Given the description of an element on the screen output the (x, y) to click on. 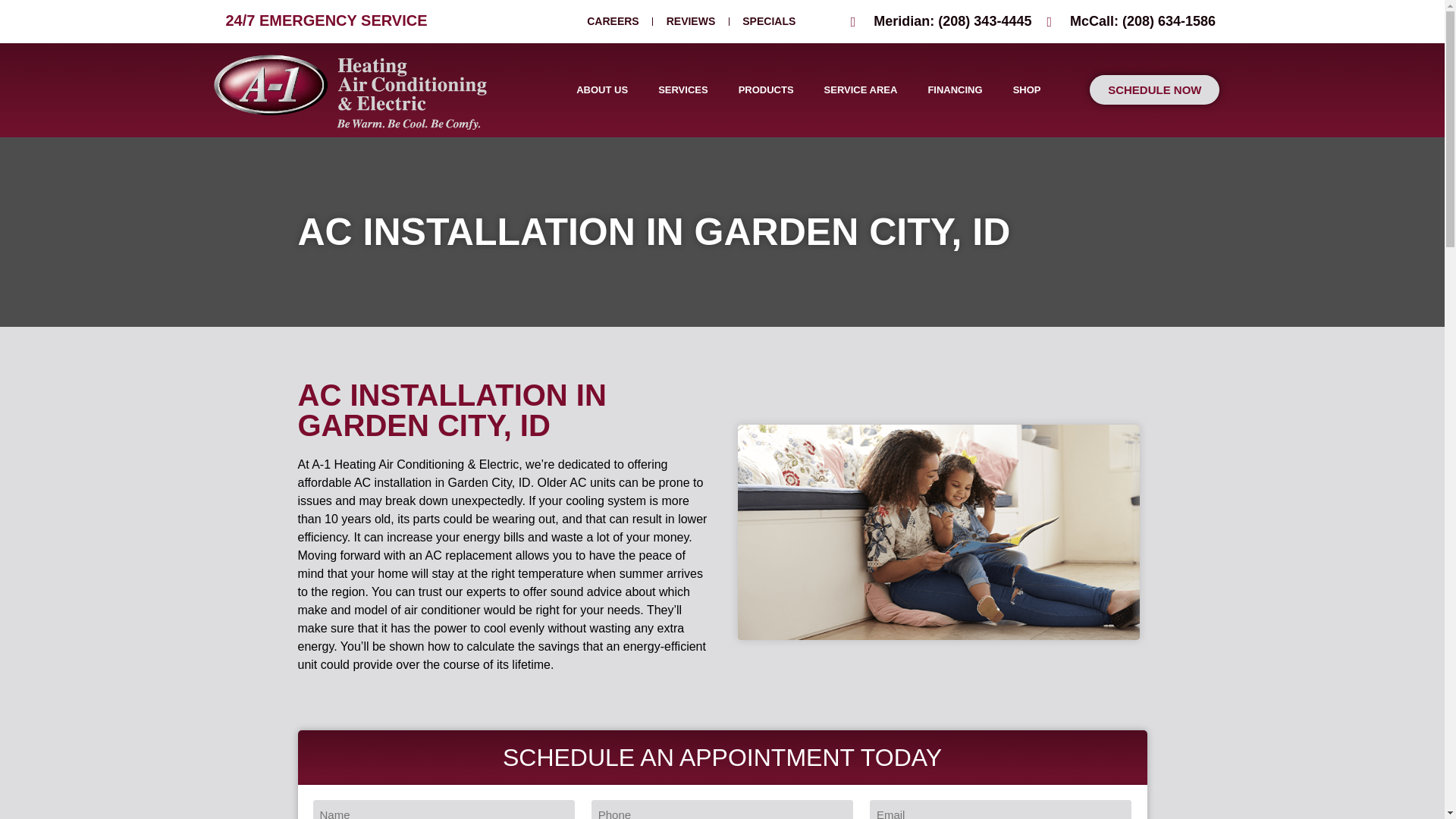
SPECIALS (768, 21)
ABOUT US (601, 89)
SERVICES (683, 89)
REVIEWS (691, 21)
CAREERS (612, 21)
